Given the description of an element on the screen output the (x, y) to click on. 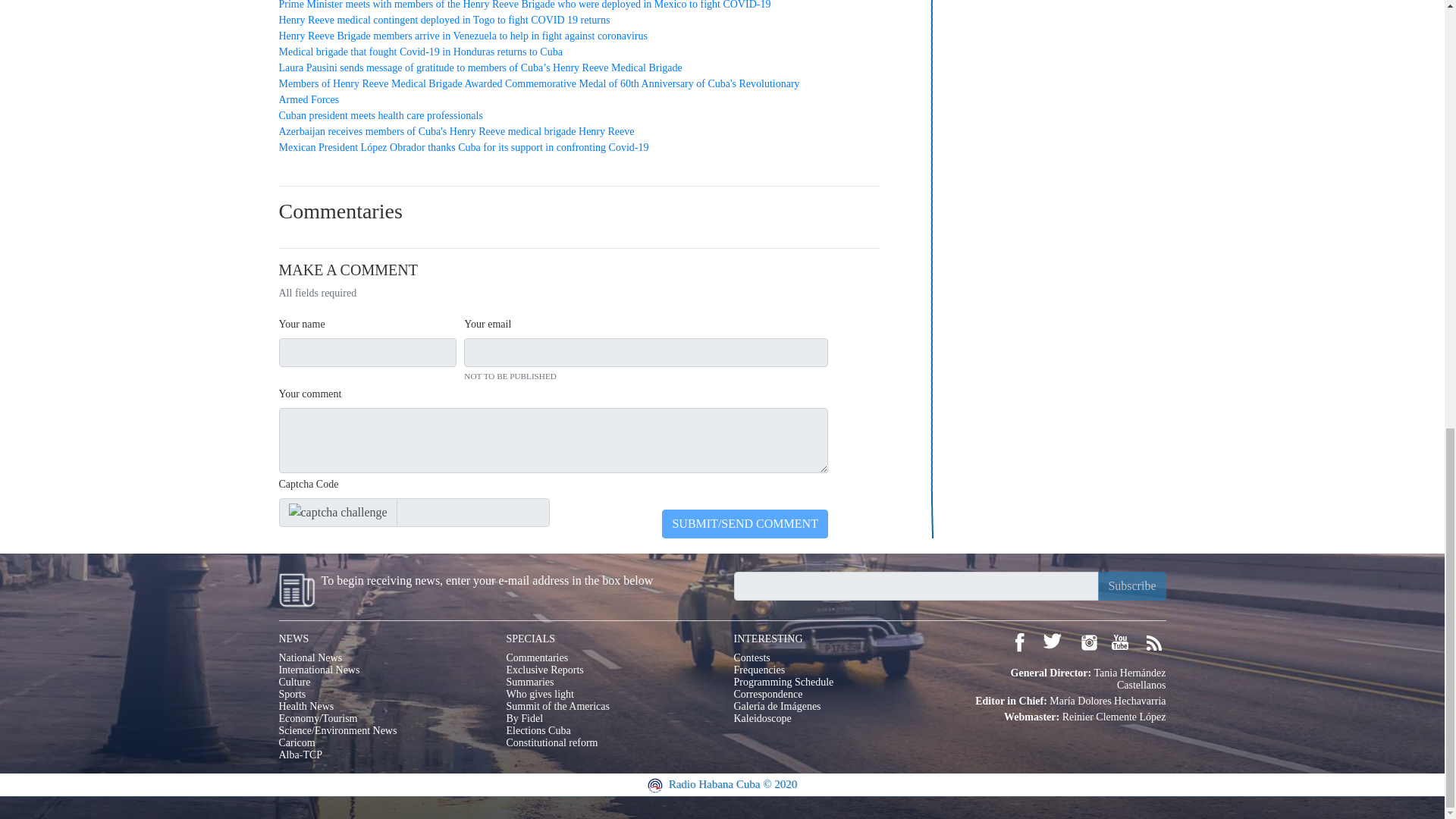
bulletin-mail (916, 585)
